Given the description of an element on the screen output the (x, y) to click on. 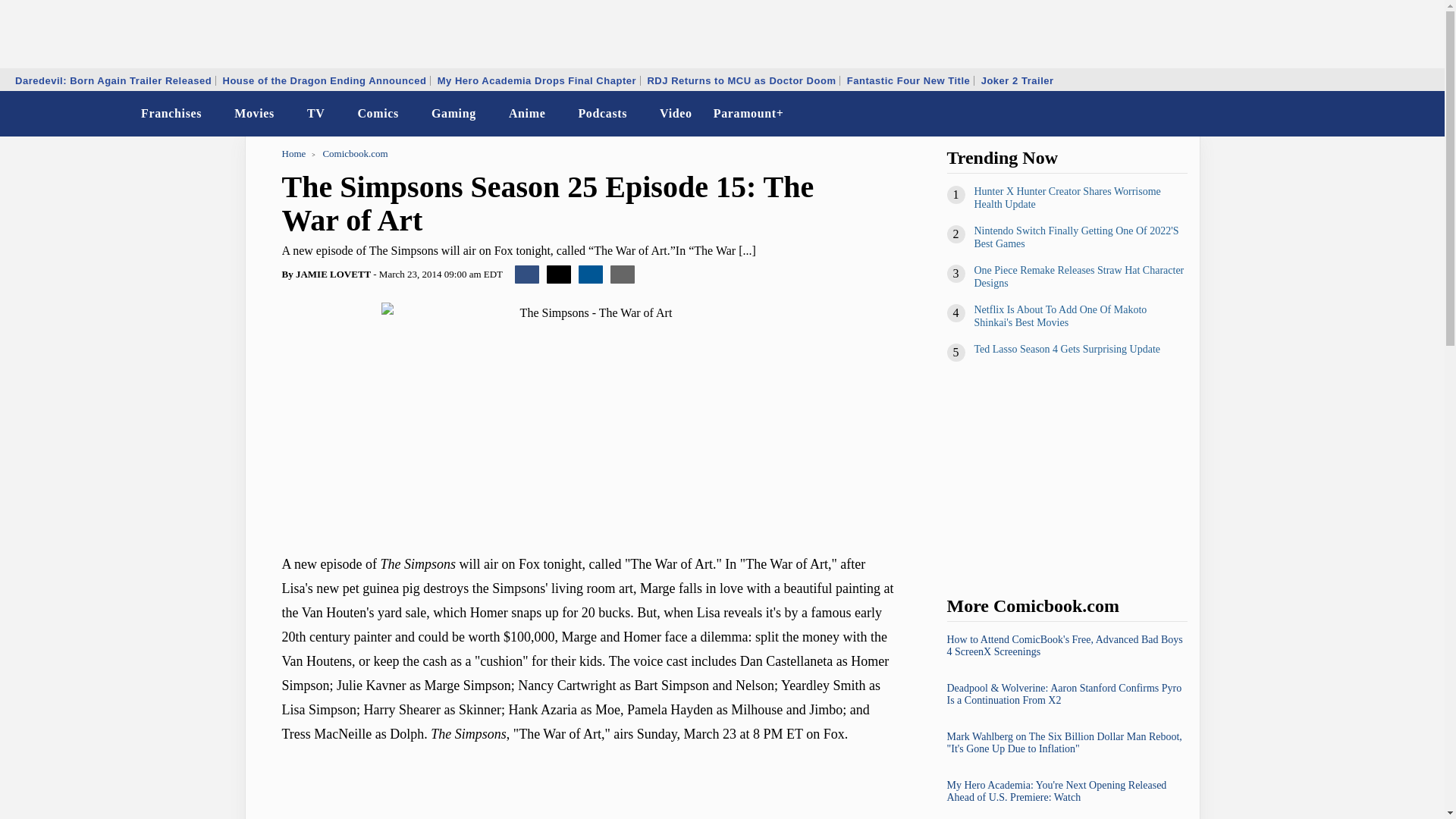
RDJ Returns to MCU as Doctor Doom (741, 80)
Daredevil: Born Again Trailer Released (113, 80)
Movies (254, 113)
Fantastic Four New Title (908, 80)
My Hero Academia Drops Final Chapter (536, 80)
Joker 2 Trailer (1017, 80)
House of the Dragon Ending Announced (323, 80)
Comics (377, 113)
Dark Mode (1394, 113)
Search (1422, 114)
